Given the description of an element on the screen output the (x, y) to click on. 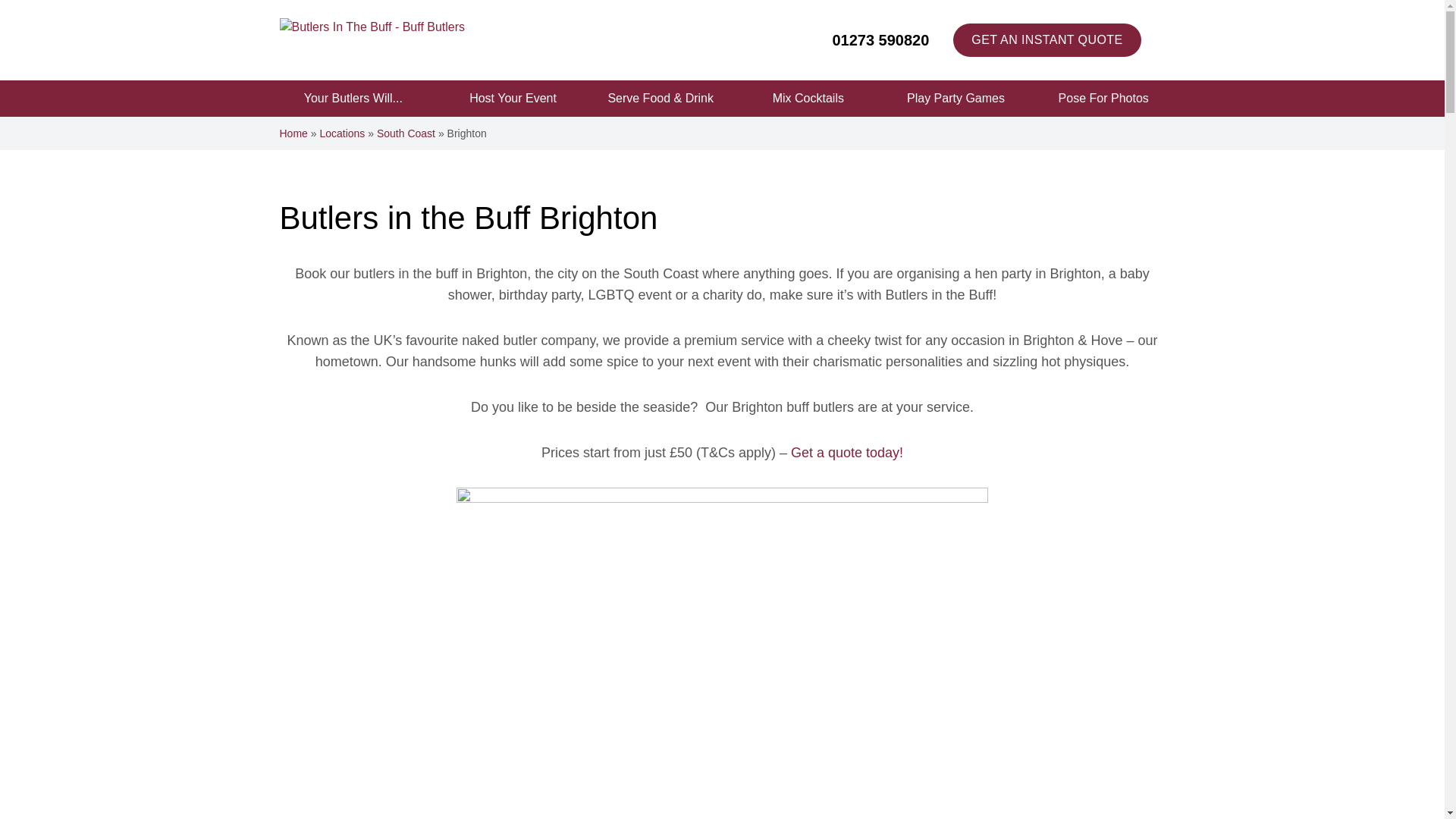
Get a quote today! (846, 451)
Locations (341, 133)
South Coast (406, 133)
01273 590820 (1046, 39)
Home (869, 39)
